Given the description of an element on the screen output the (x, y) to click on. 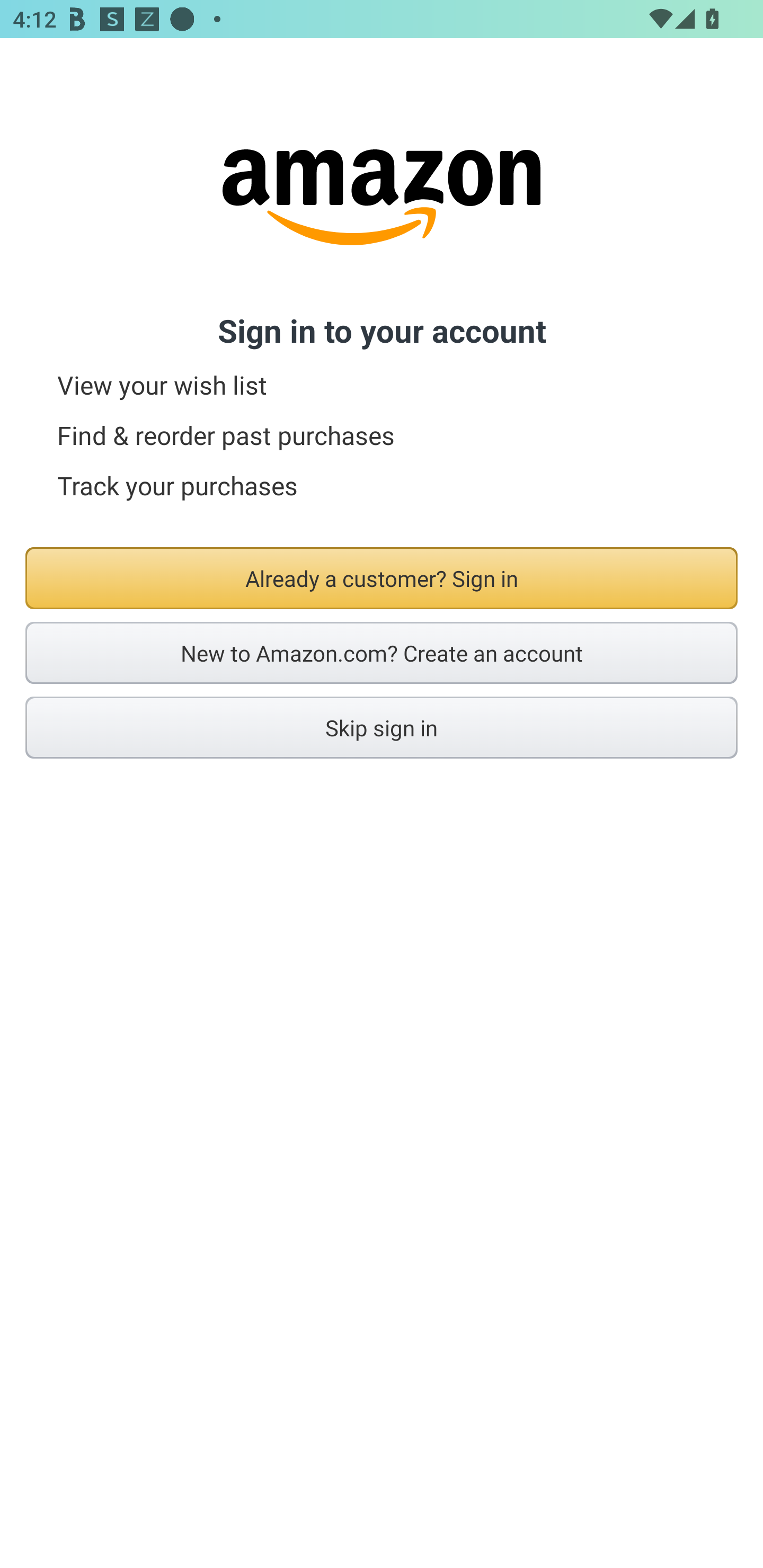
Already a customer? Sign in (381, 578)
New to Amazon.com? Create an account (381, 652)
Skip sign in (381, 727)
